Given the description of an element on the screen output the (x, y) to click on. 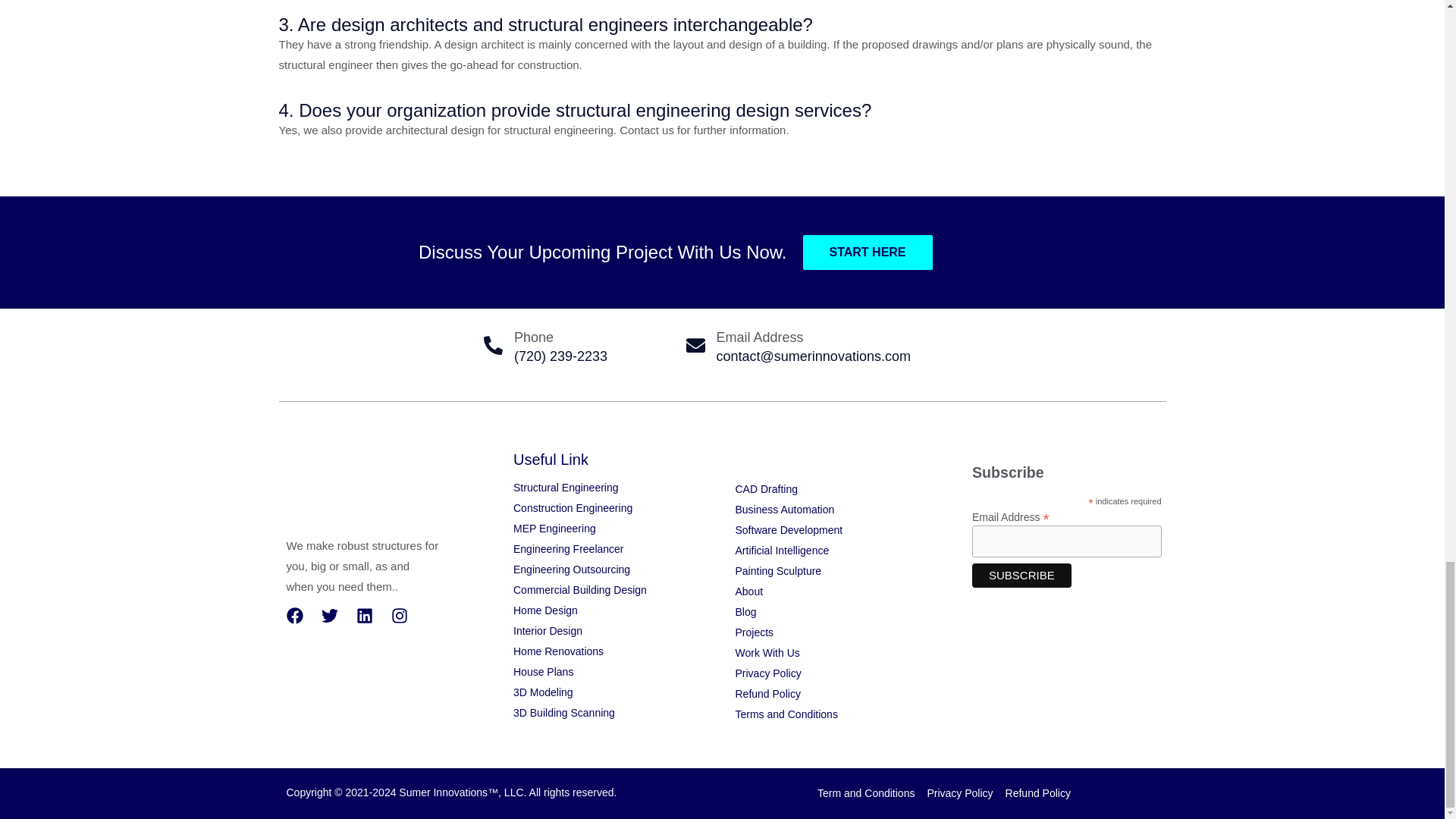
Subscribe (1021, 575)
